Given the description of an element on the screen output the (x, y) to click on. 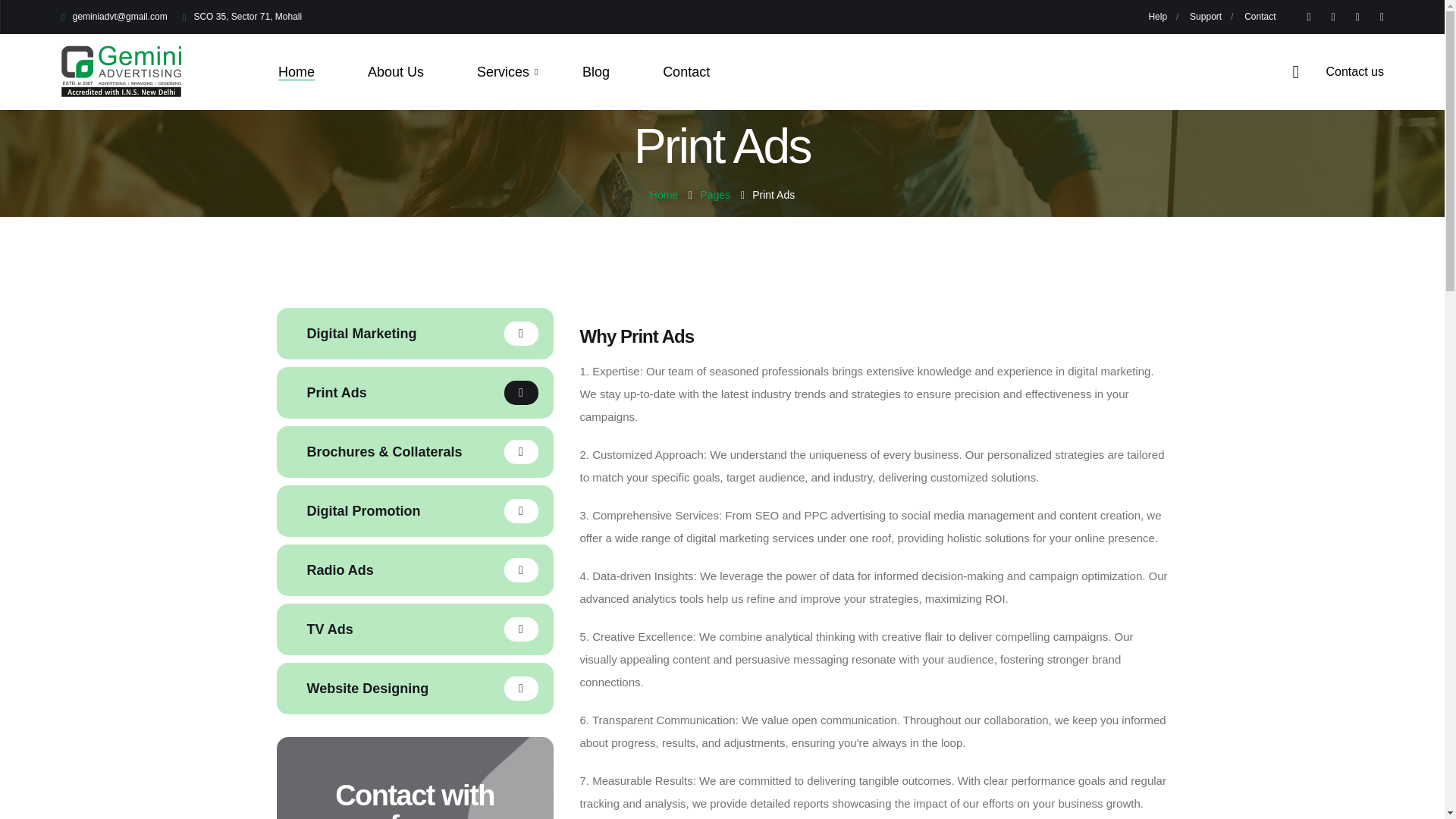
Support (1205, 16)
Services (508, 71)
Contact (1259, 16)
Home (296, 71)
Contact us (1338, 71)
About Us (395, 71)
Help (1157, 16)
Blog (596, 71)
Contact (686, 71)
Tronis (121, 72)
